Given the description of an element on the screen output the (x, y) to click on. 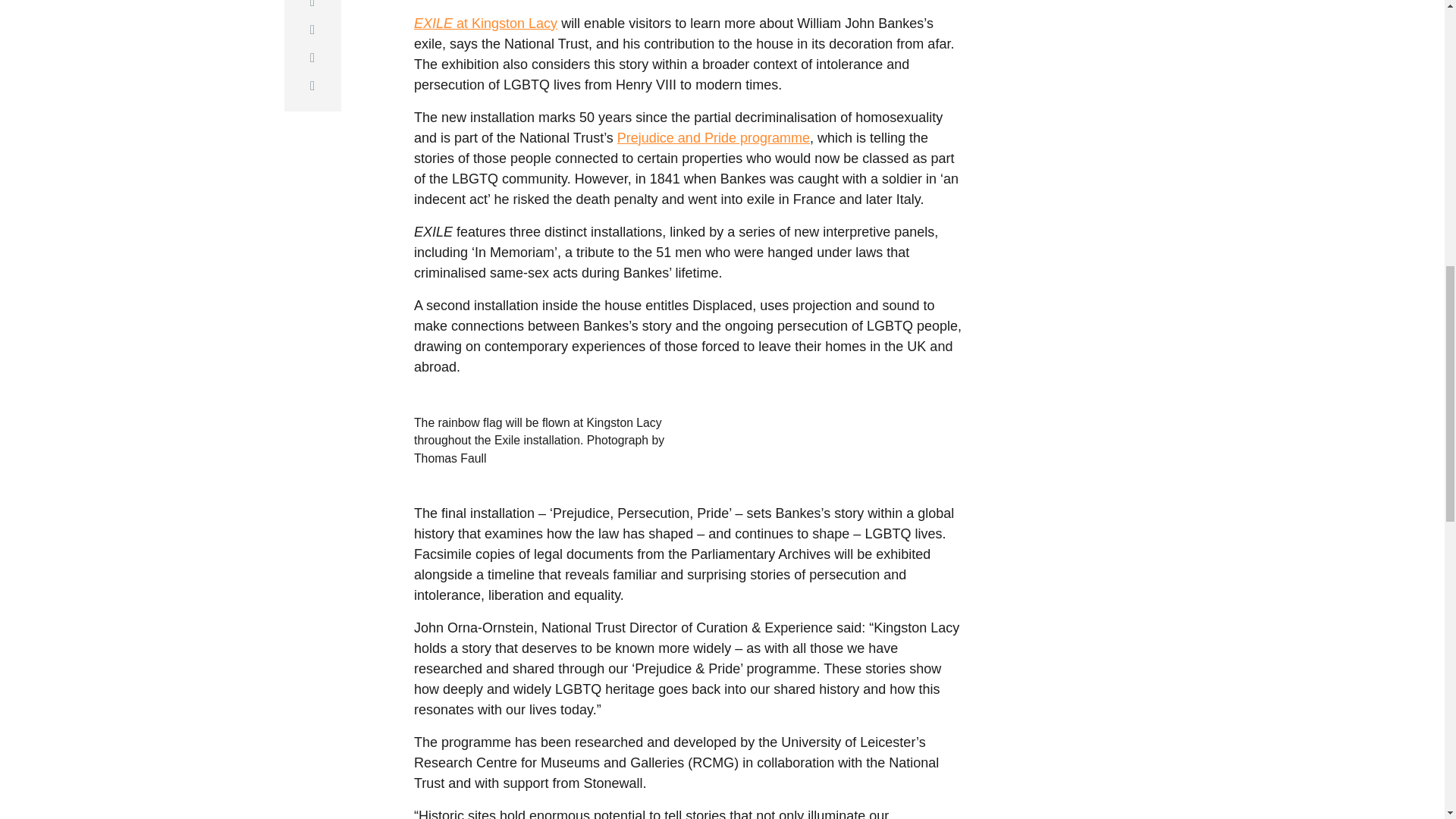
Linkedin (311, 58)
Twitter (311, 7)
Print (311, 85)
Facebook (311, 29)
